Given the description of an element on the screen output the (x, y) to click on. 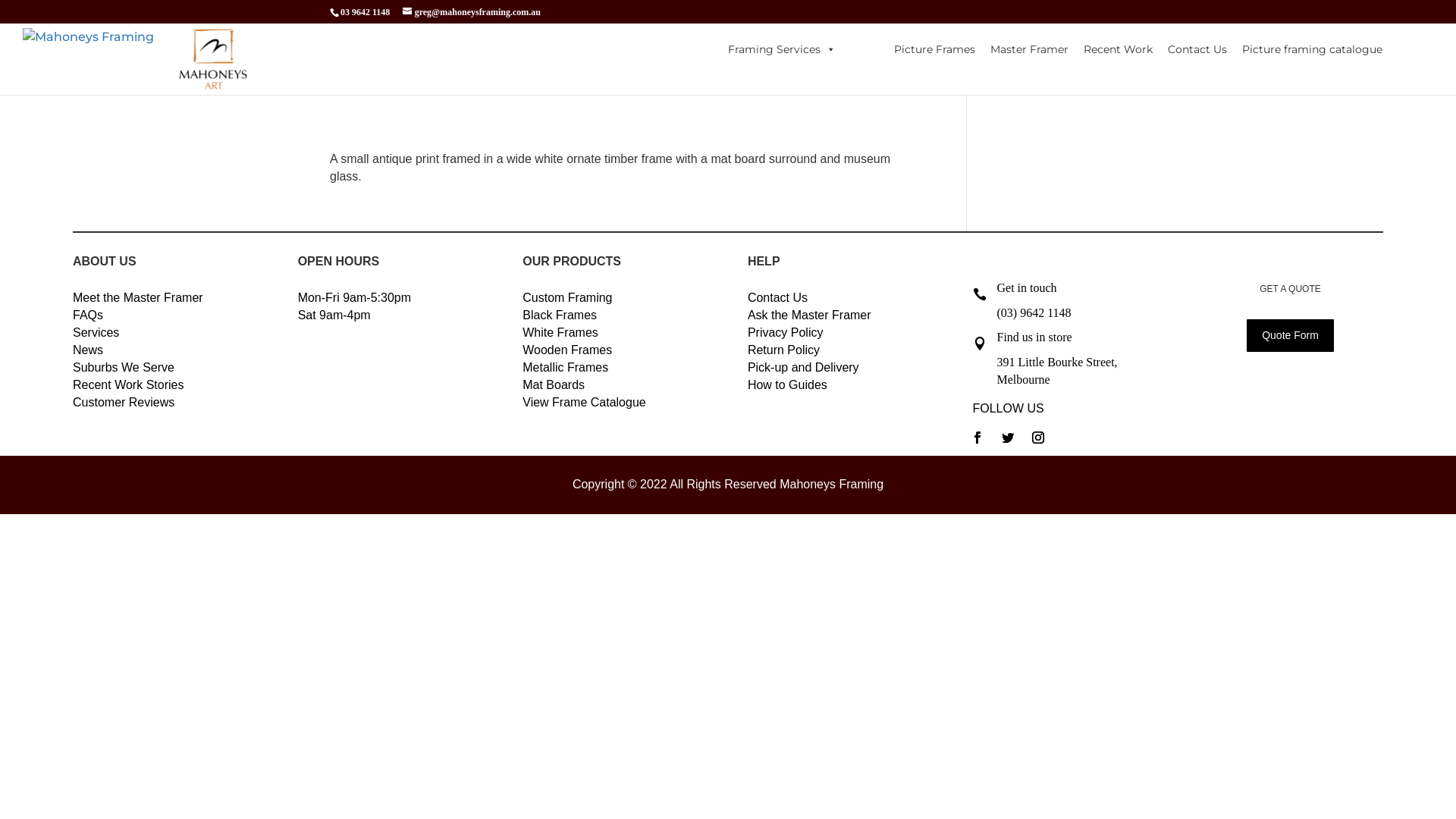
Privacy Policy Element type: text (785, 332)
Meet the Master Framer Element type: text (137, 297)
Picture framing catalogue Element type: text (1312, 48)
Contact Us Element type: text (1197, 48)
News Element type: text (87, 349)
Suburbs We Serve Element type: text (123, 366)
Black Frames Element type: text (559, 314)
Customer Reviews Element type: text (123, 401)
FAQs Element type: text (87, 314)
Framing Services Element type: text (781, 48)
Pick-up and Delivery Element type: text (803, 366)
Custom Framing Element type: text (566, 297)
View Frame Catalogue Element type: text (583, 401)
Mat Boards Element type: text (553, 384)
Services Element type: text (95, 332)
Recent Work Element type: text (1118, 48)
Contact Us Element type: text (777, 297)
White Frames Element type: text (560, 332)
Ask the Master Framer Element type: text (809, 314)
Wooden Frames Element type: text (566, 349)
Return Policy Element type: text (783, 349)
How to Guides Element type: text (787, 384)
Picture Frames Element type: text (934, 48)
Follow on Facebook Element type: hover (976, 437)
Metallic Frames Element type: text (565, 366)
Follow on Twitter Element type: hover (1006, 437)
greg@mahoneysframing.com.au Element type: text (471, 11)
Quote Form Element type: text (1290, 335)
Recent Work Stories Element type: text (127, 384)
Master Framer Element type: text (1029, 48)
Follow on Instagram Element type: hover (1037, 437)
